Given the description of an element on the screen output the (x, y) to click on. 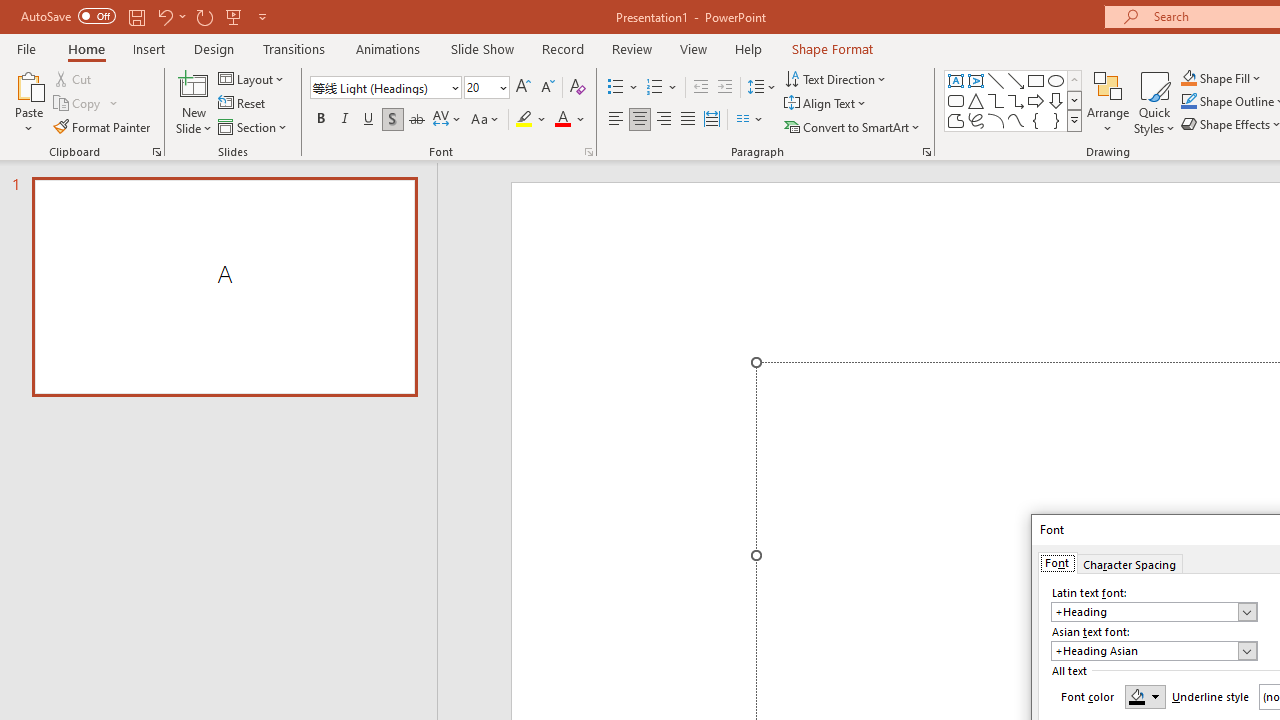
Quick Styles (1154, 102)
Line Spacing (762, 87)
Vertical Text Box (975, 80)
Distributed (712, 119)
Connector: Elbow Arrow (1016, 100)
Isosceles Triangle (975, 100)
Bold (320, 119)
Curve (1016, 120)
Font (385, 87)
Italic (344, 119)
Bullets (623, 87)
Decrease Font Size (547, 87)
